Given the description of an element on the screen output the (x, y) to click on. 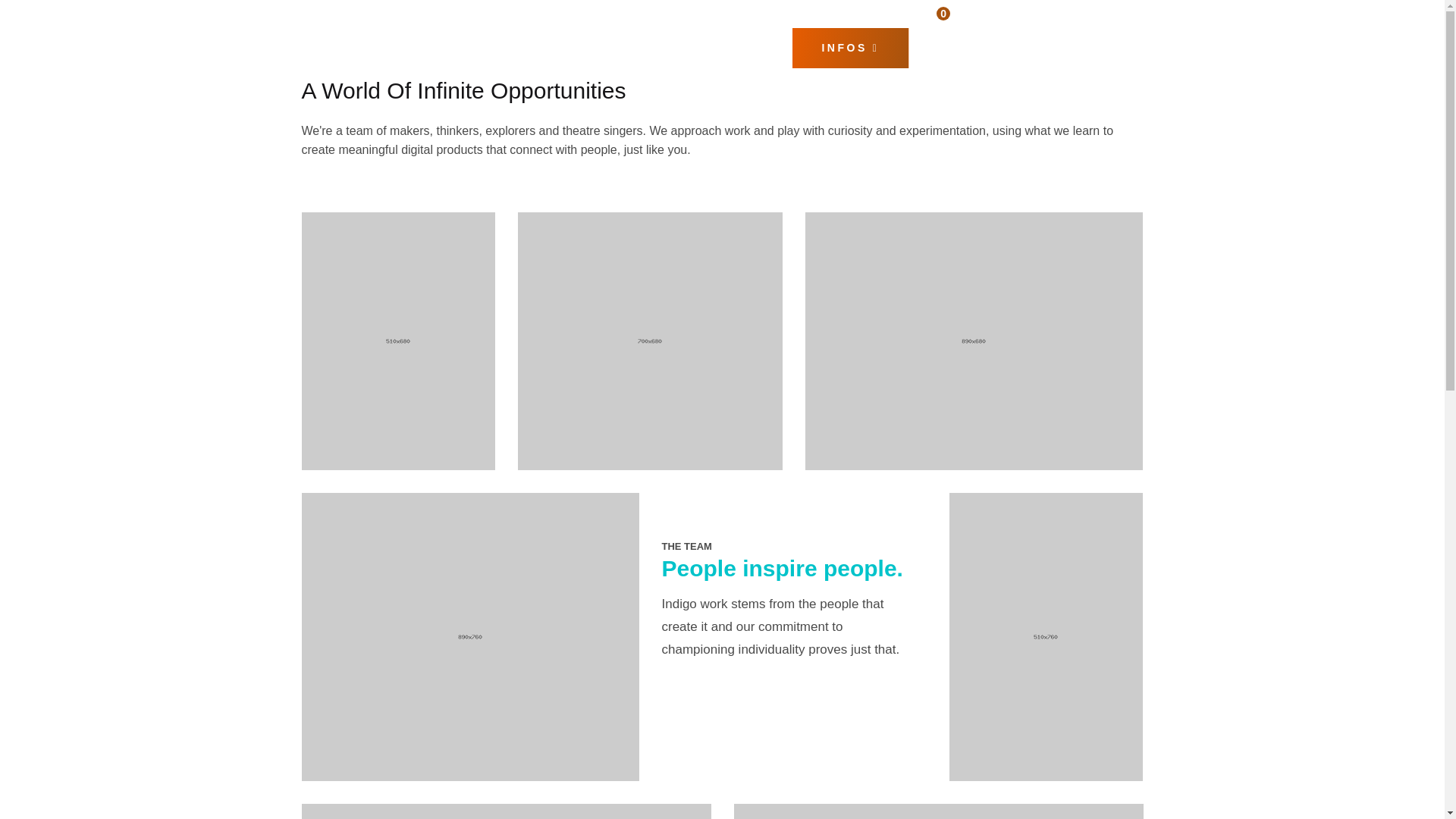
CONTACT (1084, 47)
Login (989, 14)
INFOS (850, 47)
BLOG (967, 47)
Cart 0 (921, 12)
SERVICES (477, 47)
Signup (1034, 14)
ACCUEIL (357, 47)
E-SHOP (596, 47)
EN (539, 12)
